Given the description of an element on the screen output the (x, y) to click on. 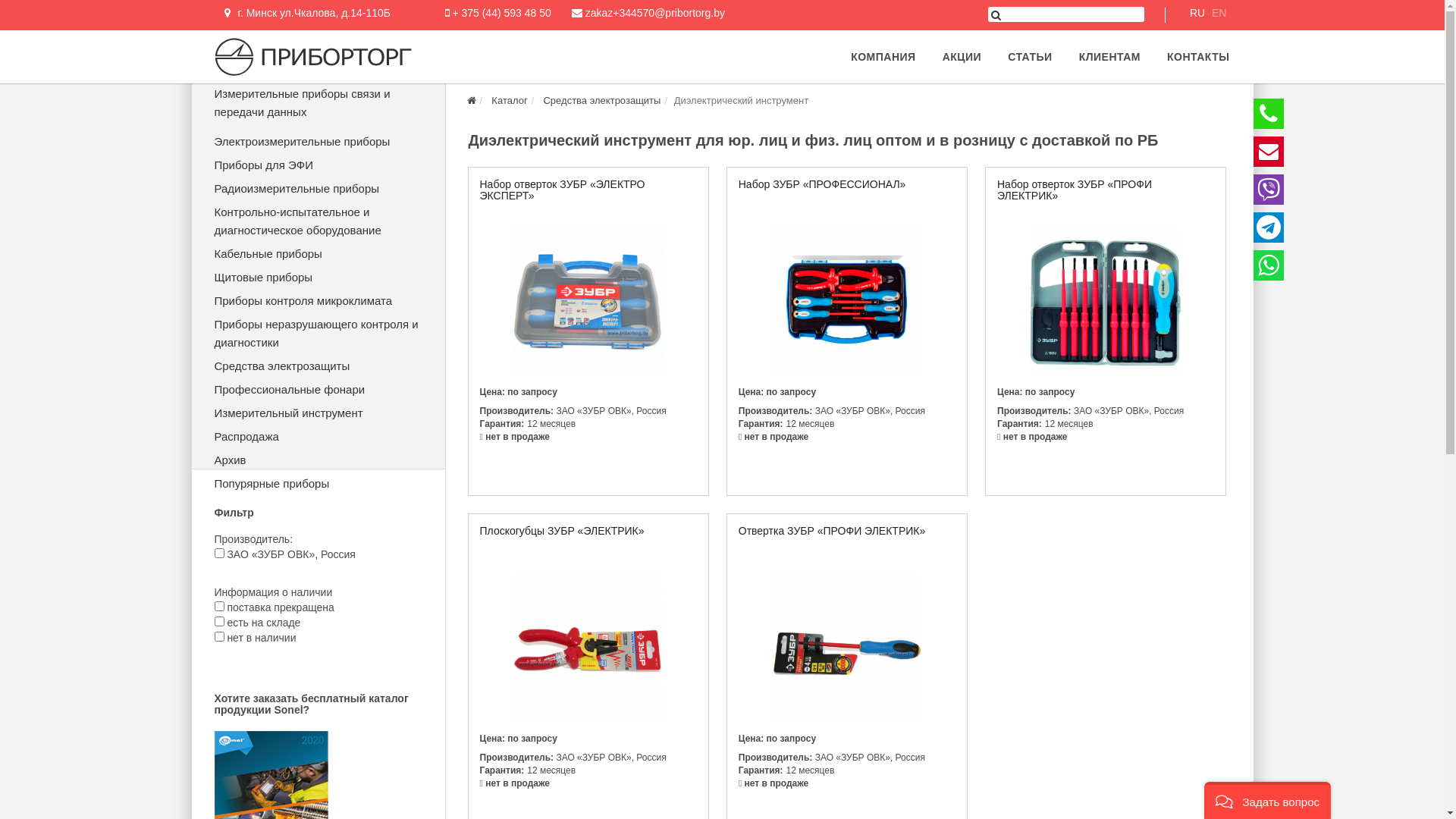
EN Element type: text (1218, 14)
47 Element type: text (218, 606)
48 Element type: text (218, 621)
76 Element type: text (218, 636)
37 Element type: text (218, 553)
RU Element type: text (1196, 14)
zakaz+344570@pribortorg.by Element type: text (654, 12)
+ 375 (44) 593 48 50 Element type: text (500, 12)
